Given the description of an element on the screen output the (x, y) to click on. 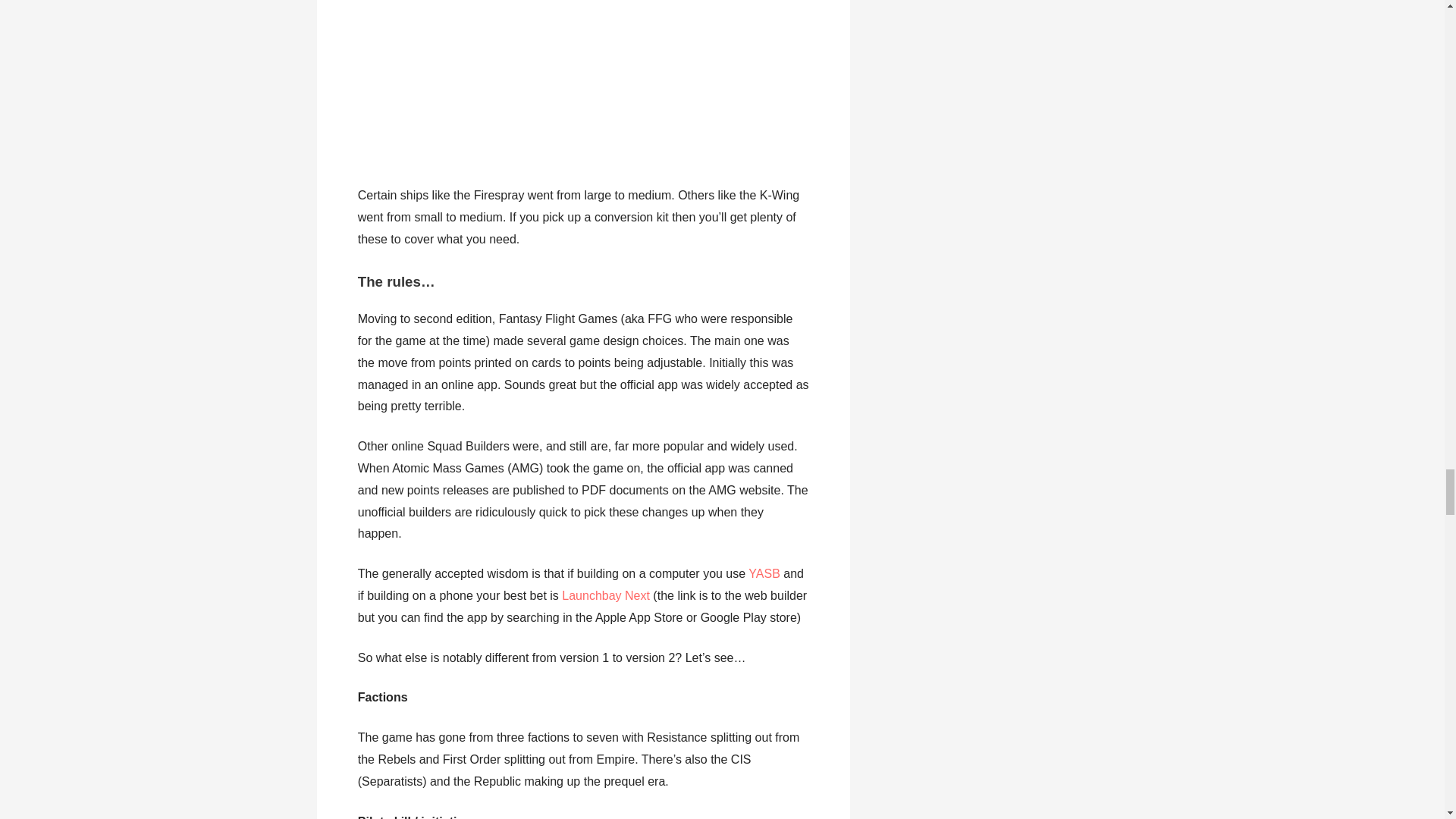
YASB (764, 573)
Launchbay Next (605, 594)
